Given the description of an element on the screen output the (x, y) to click on. 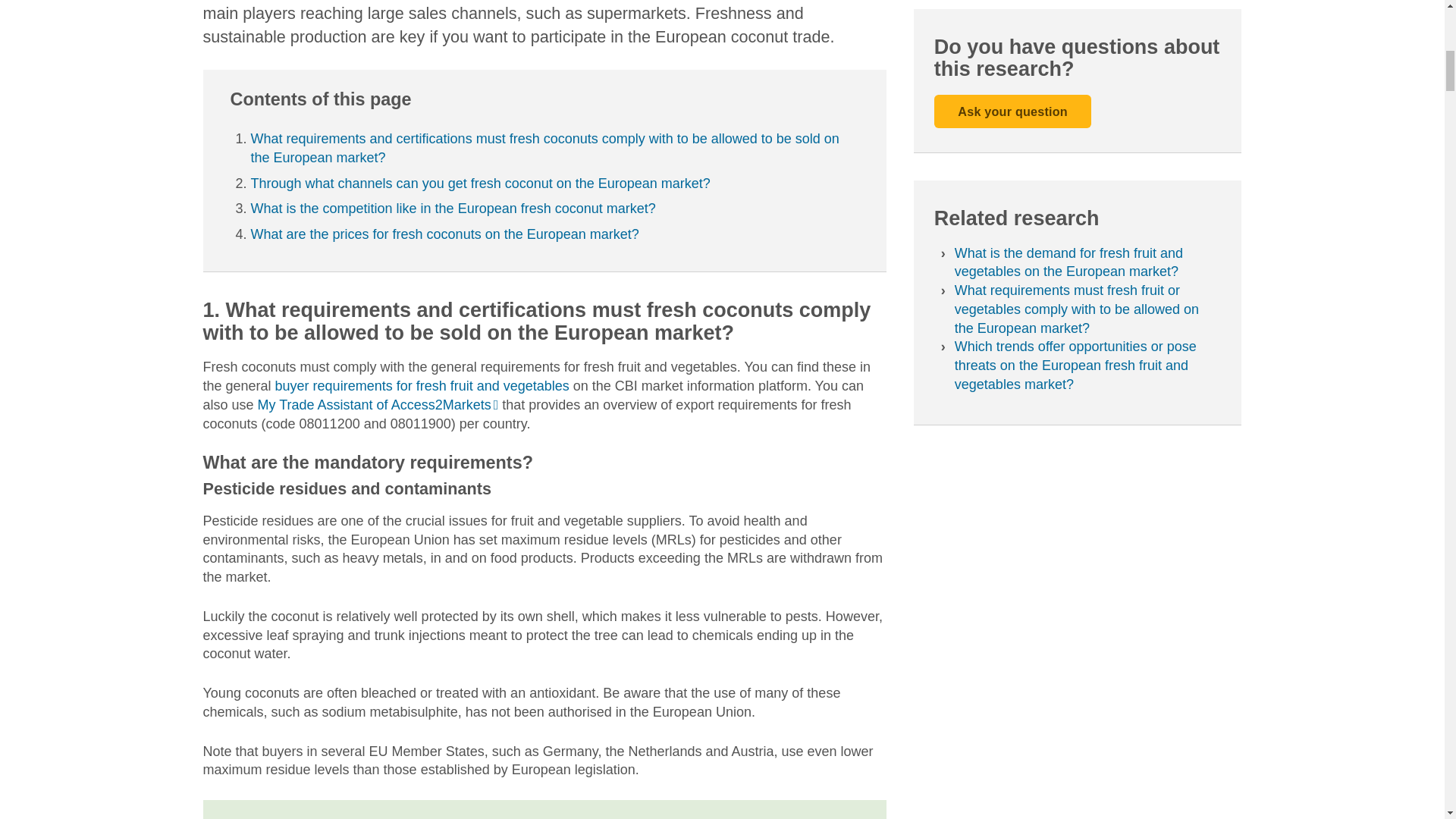
buyer requirements for fresh fruit and vegetables (422, 385)
My Trade Assistant of Access2Markets (378, 404)
